Given the description of an element on the screen output the (x, y) to click on. 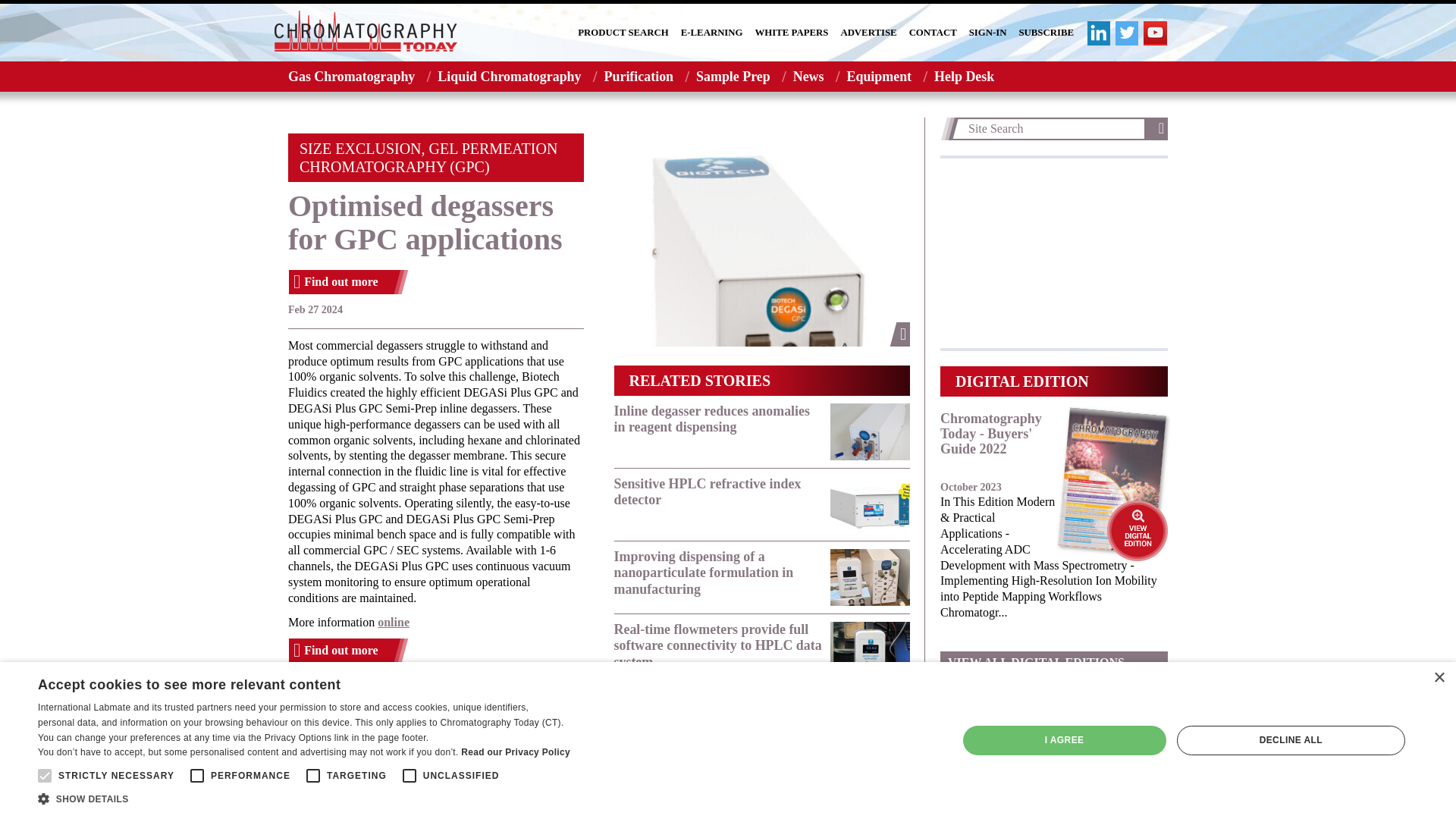
PRODUCT SEARCH (623, 32)
SUBSCRIBE (1045, 32)
E-LEARNING (711, 32)
ADVERTISE (868, 32)
SIGN-IN (988, 32)
3rd party ad content (1053, 253)
Gas Chromatography (347, 76)
Liquid Chromatography (508, 76)
CONTACT (932, 32)
WHITE PAPERS (791, 32)
